Given the description of an element on the screen output the (x, y) to click on. 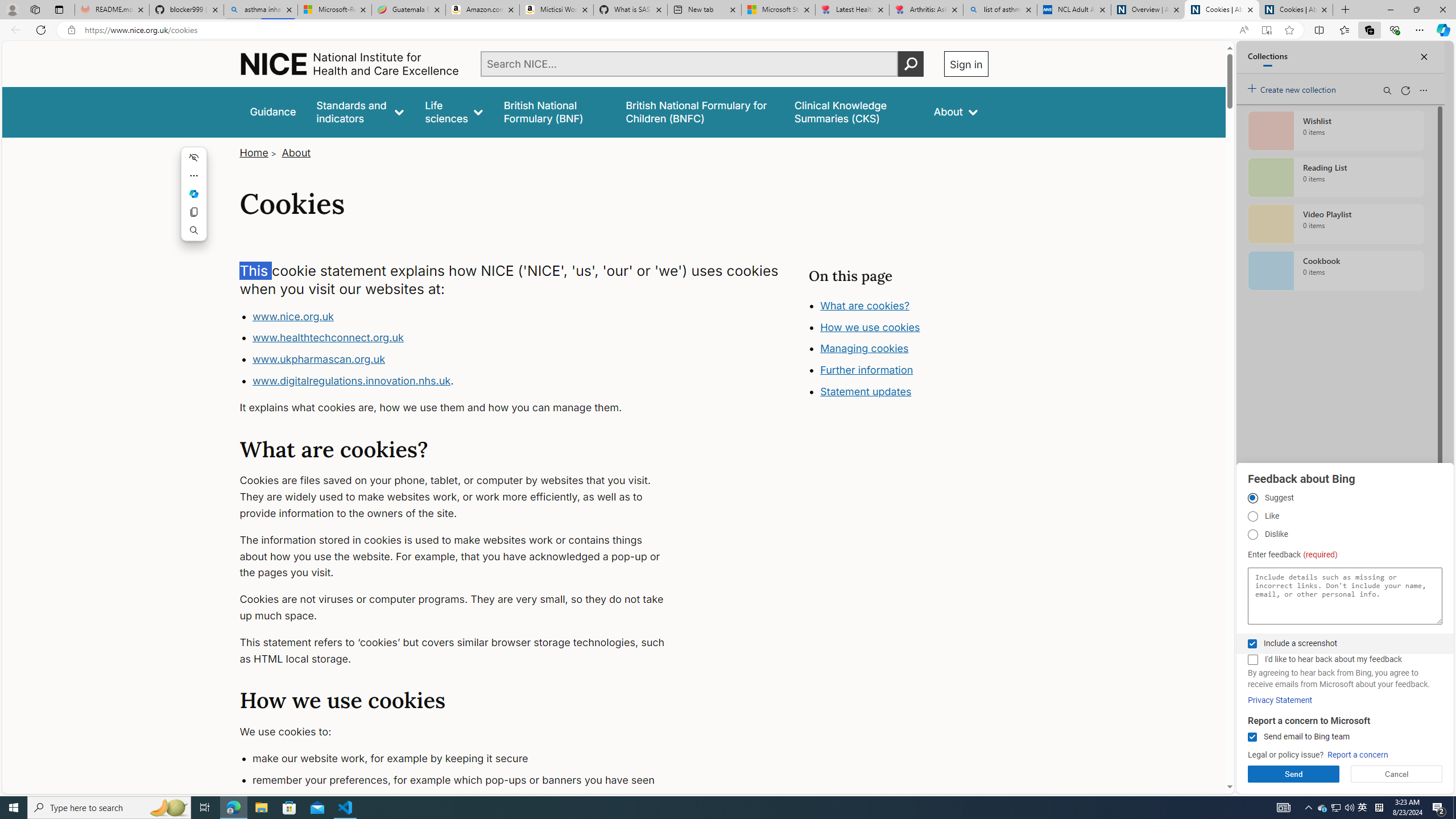
list of asthma inhalers uk - Search (1000, 9)
